Given the description of an element on the screen output the (x, y) to click on. 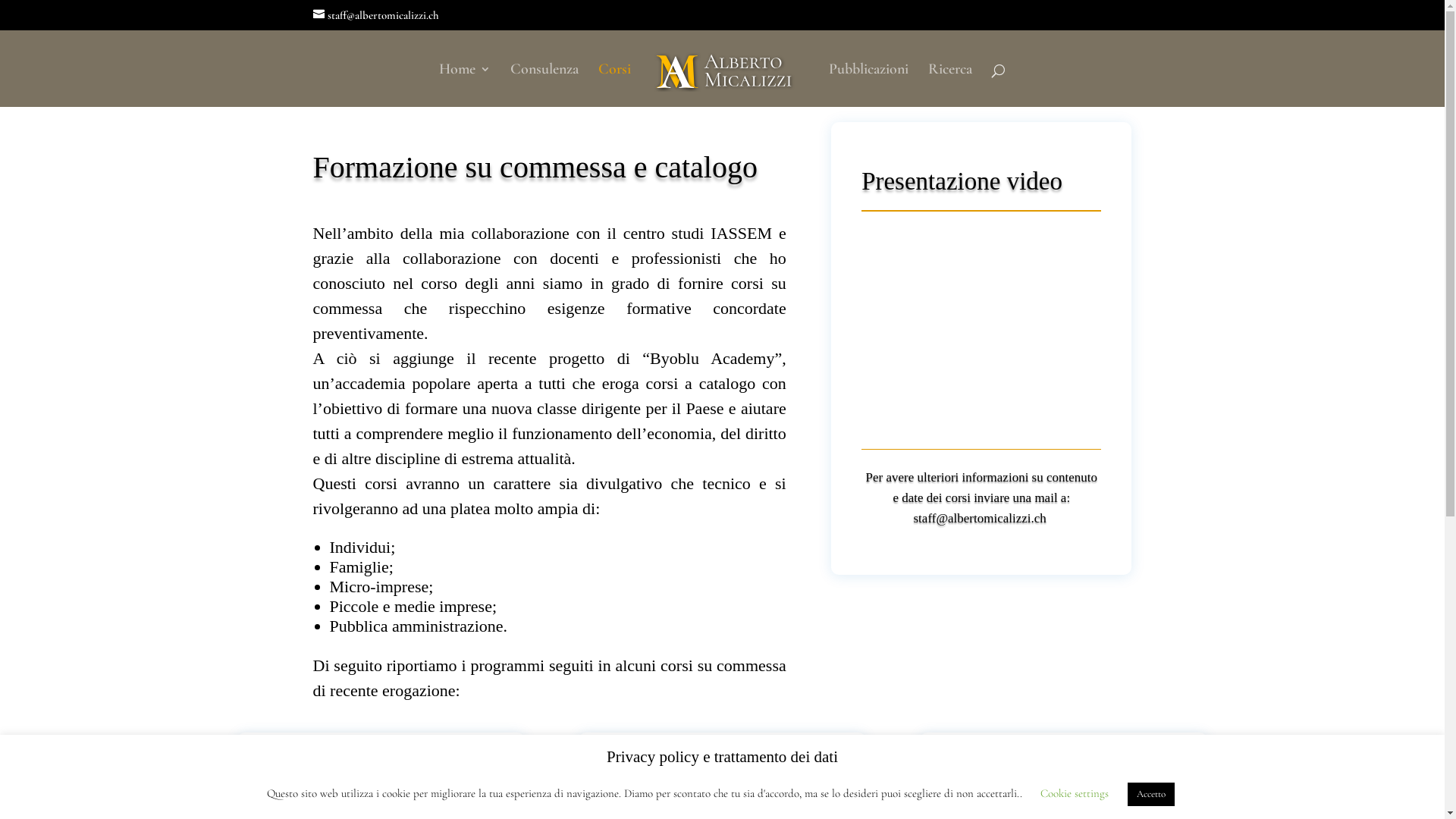
Home Element type: text (464, 84)
Cookie settings Element type: text (1074, 793)
Accetto Element type: text (1149, 794)
staff@albertomicalizzi.ch Element type: text (979, 518)
Consulenza Element type: text (544, 84)
Pubblicazioni Element type: text (868, 84)
staff@albertomicalizzi.ch Element type: text (375, 14)
Ricerca Element type: text (950, 84)
Corsi Element type: text (614, 84)
